Given the description of an element on the screen output the (x, y) to click on. 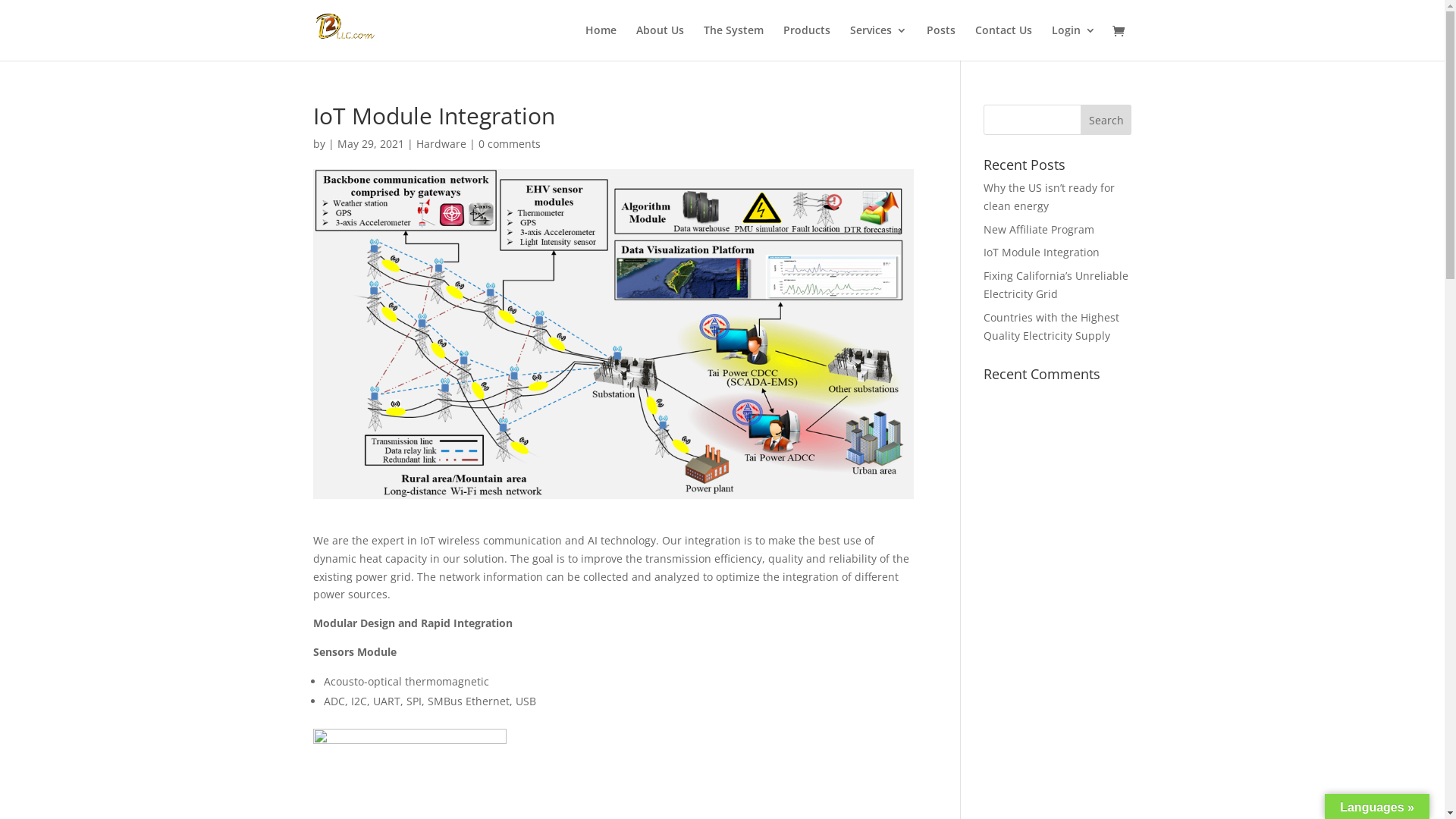
0 comments Element type: text (508, 143)
Home Element type: text (600, 42)
Hardware Element type: text (440, 143)
About Us Element type: text (659, 42)
IoT Module Integration Element type: text (1041, 251)
The System Element type: text (733, 42)
New Affiliate Program Element type: text (1038, 229)
Countries with the Highest Quality Electricity Supply Element type: text (1051, 326)
Products Element type: text (805, 42)
Login Element type: text (1073, 42)
Search Element type: text (1106, 119)
Contact Us Element type: text (1003, 42)
Services Element type: text (877, 42)
Posts Element type: text (940, 42)
